Given the description of an element on the screen output the (x, y) to click on. 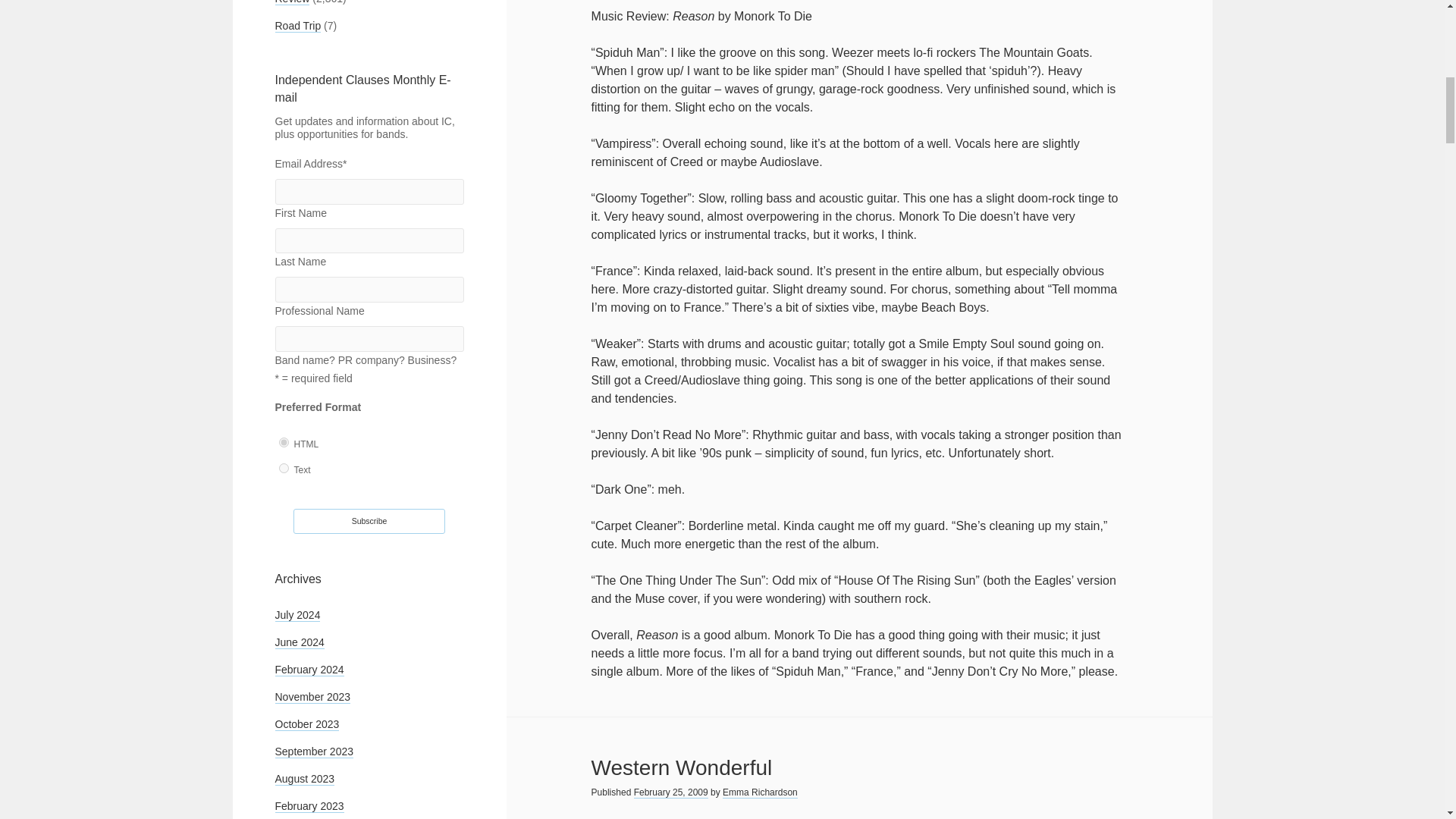
February 2023 (309, 806)
June 2024 (299, 642)
August 2023 (304, 779)
September 2023 (314, 751)
November 2023 (312, 697)
Subscribe (369, 521)
text (283, 468)
October 2023 (307, 724)
Road Trip (297, 25)
July 2024 (297, 615)
html (283, 442)
February 2024 (309, 669)
Subscribe (369, 521)
Review (291, 2)
